Given the description of an element on the screen output the (x, y) to click on. 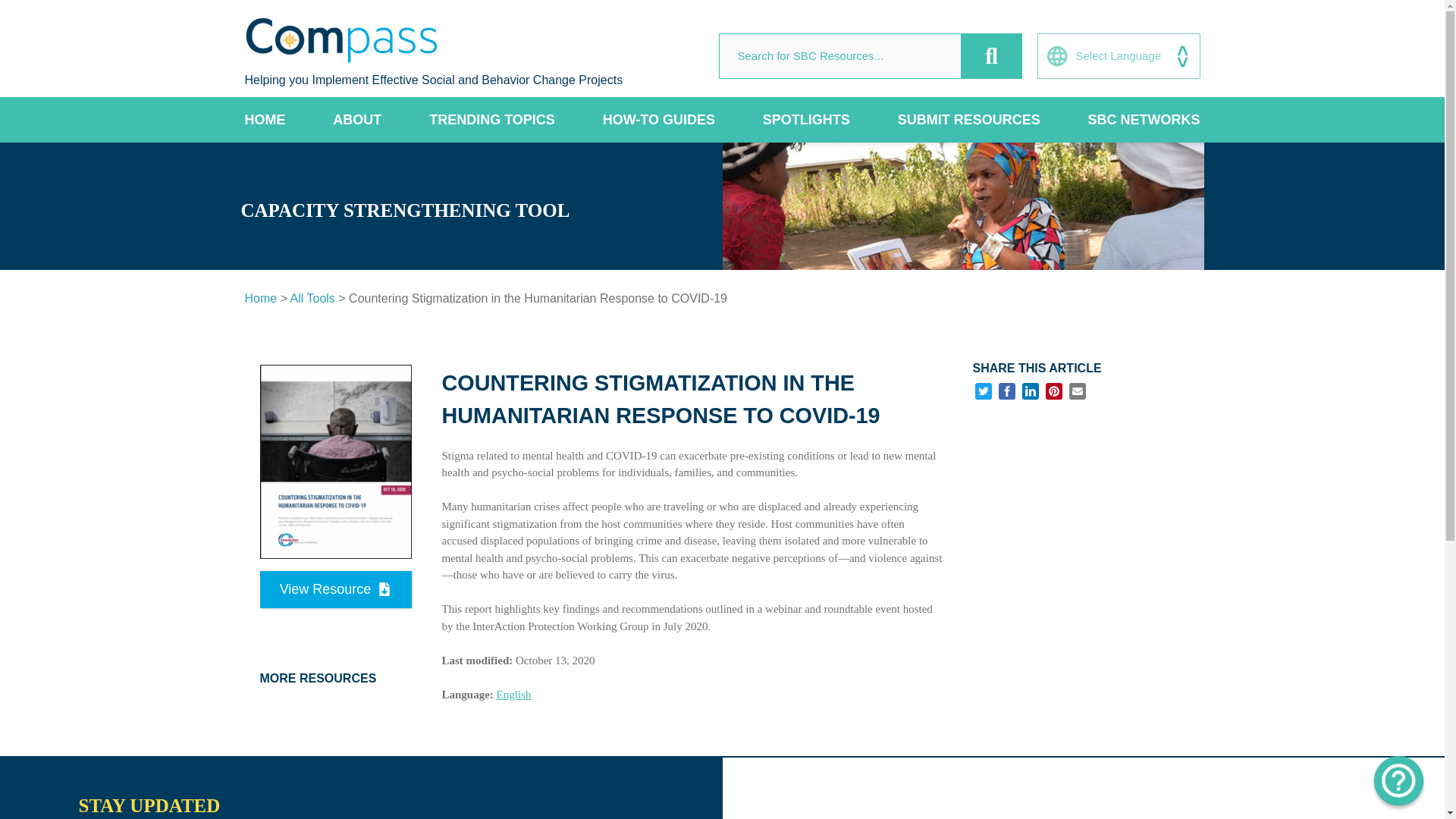
HOME (264, 119)
View Resource (334, 589)
TRENDING TOPICS (491, 119)
ABOUT (357, 119)
English (513, 694)
All Tools (311, 297)
SBC NETWORKS (1143, 119)
HOW-TO GUIDES (658, 119)
Home (260, 297)
SPOTLIGHTS (806, 119)
SUBMIT RESOURCES (969, 119)
